Given the description of an element on the screen output the (x, y) to click on. 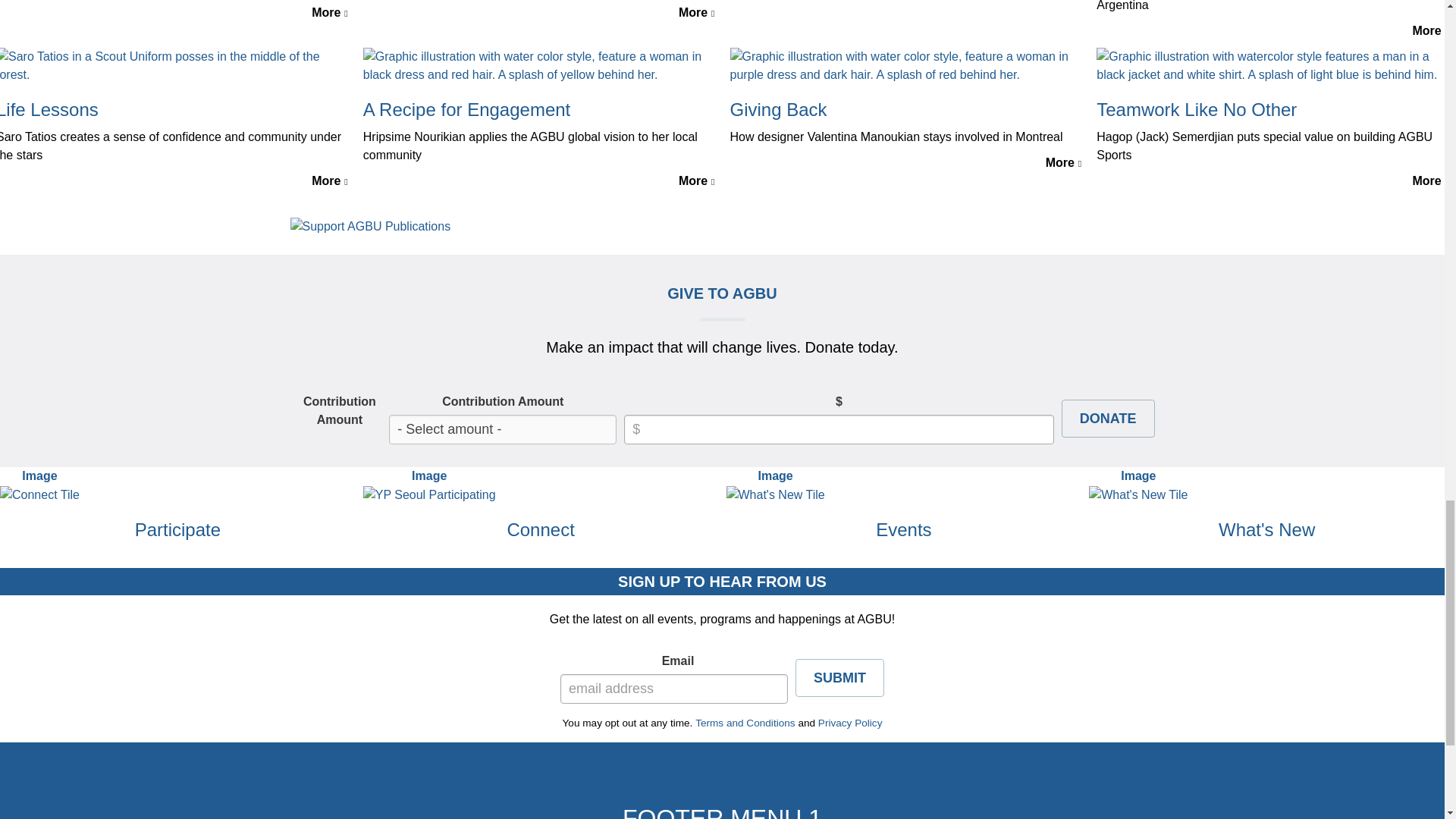
Submit (838, 677)
Donate (1107, 418)
